Given the description of an element on the screen output the (x, y) to click on. 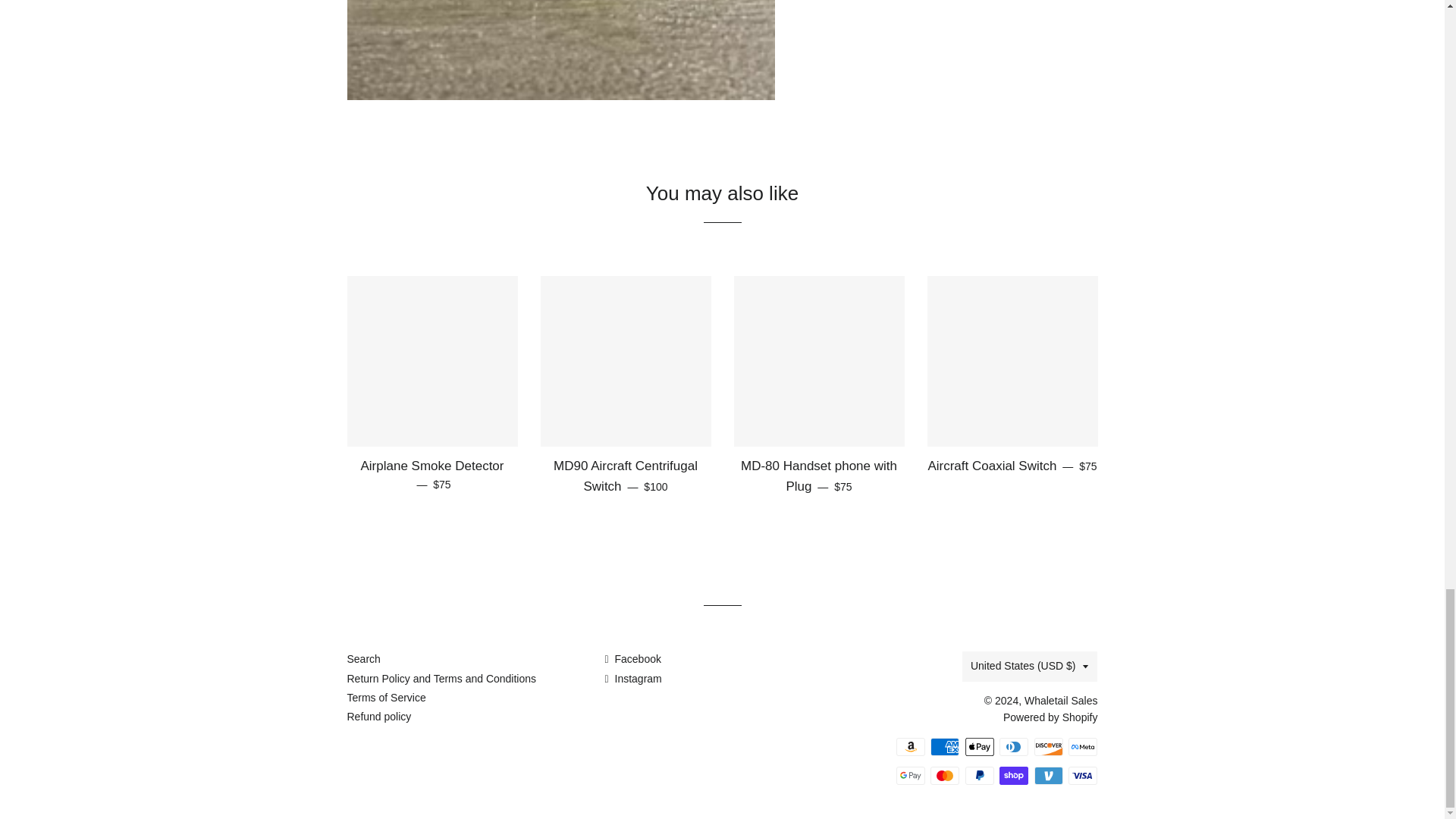
Meta Pay (1082, 746)
Diners Club (1012, 746)
Apple Pay (979, 746)
Whaletail Sales on Facebook (632, 658)
PayPal (979, 775)
American Express (944, 746)
Venmo (1047, 775)
Visa (1082, 775)
Whaletail Sales on Instagram (632, 678)
Mastercard (944, 775)
